Given the description of an element on the screen output the (x, y) to click on. 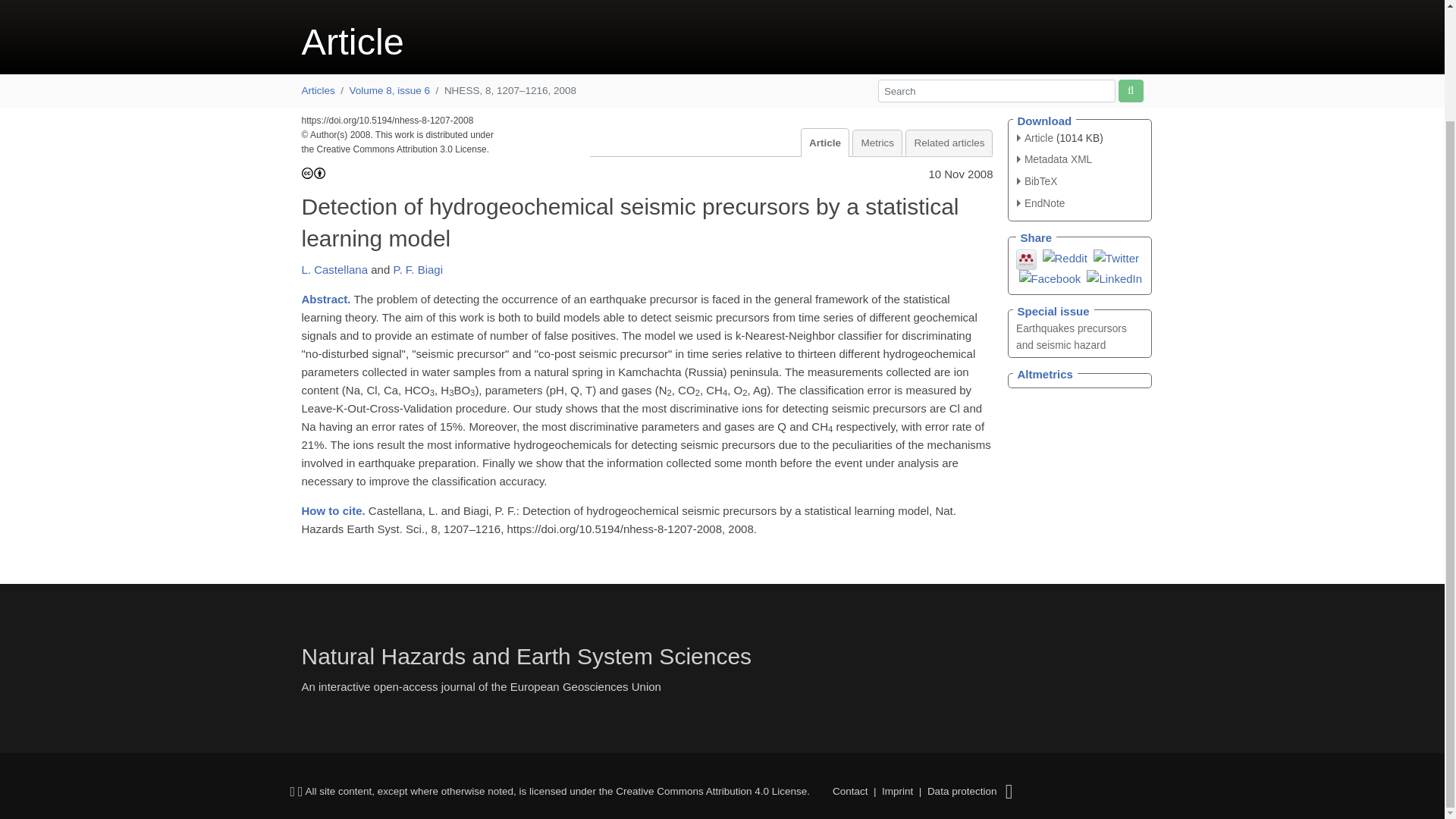
Start site search (1130, 90)
XML Version (1054, 159)
Mendeley (1026, 257)
Reddit (1064, 256)
Twitter (1115, 256)
